Given the description of an element on the screen output the (x, y) to click on. 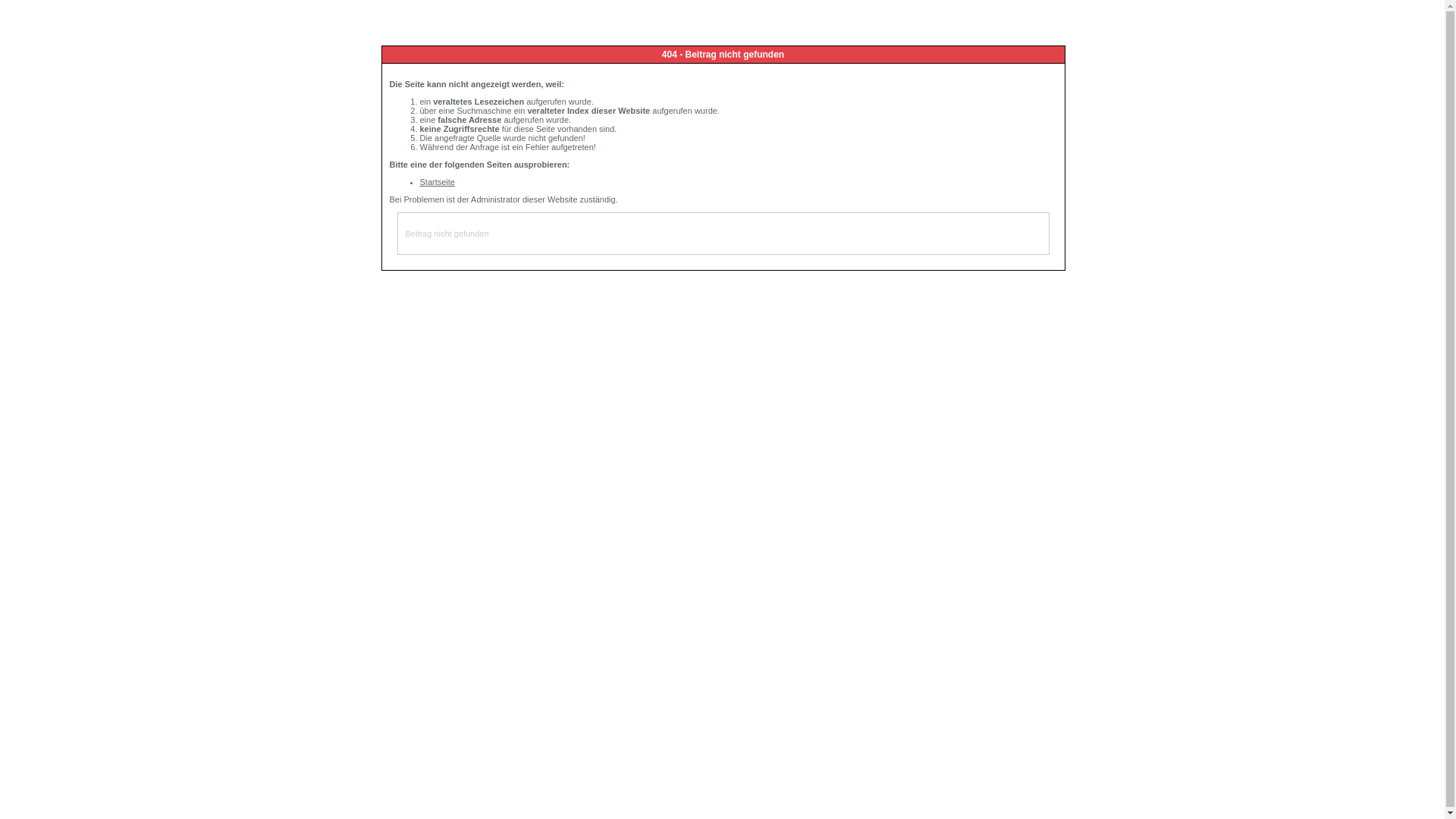
Startseite Element type: text (437, 181)
